Given the description of an element on the screen output the (x, y) to click on. 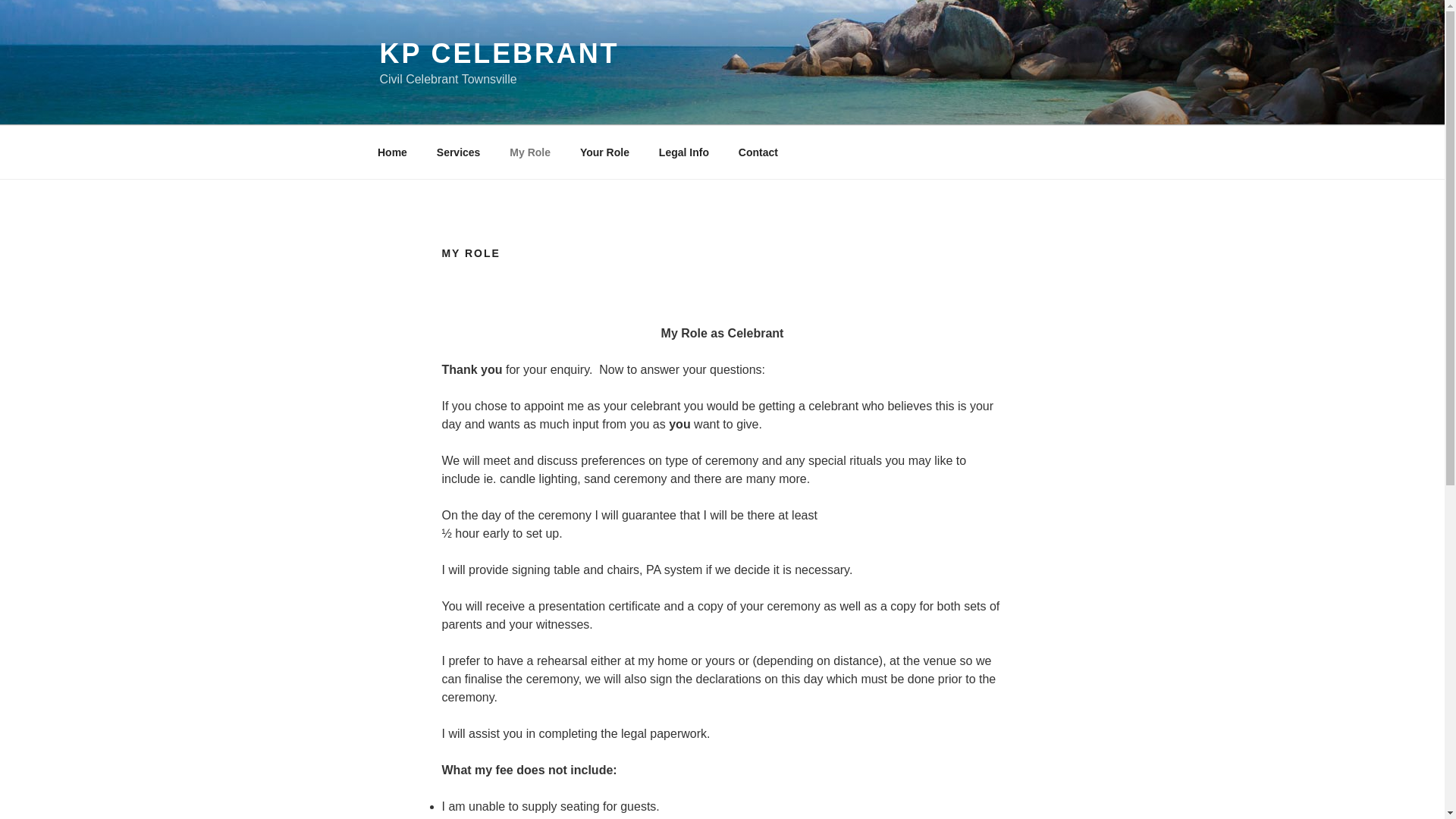
My Role (530, 151)
Home (392, 151)
Services (458, 151)
Legal Info (683, 151)
Your Role (604, 151)
Contact (757, 151)
KP CELEBRANT (498, 52)
